Given the description of an element on the screen output the (x, y) to click on. 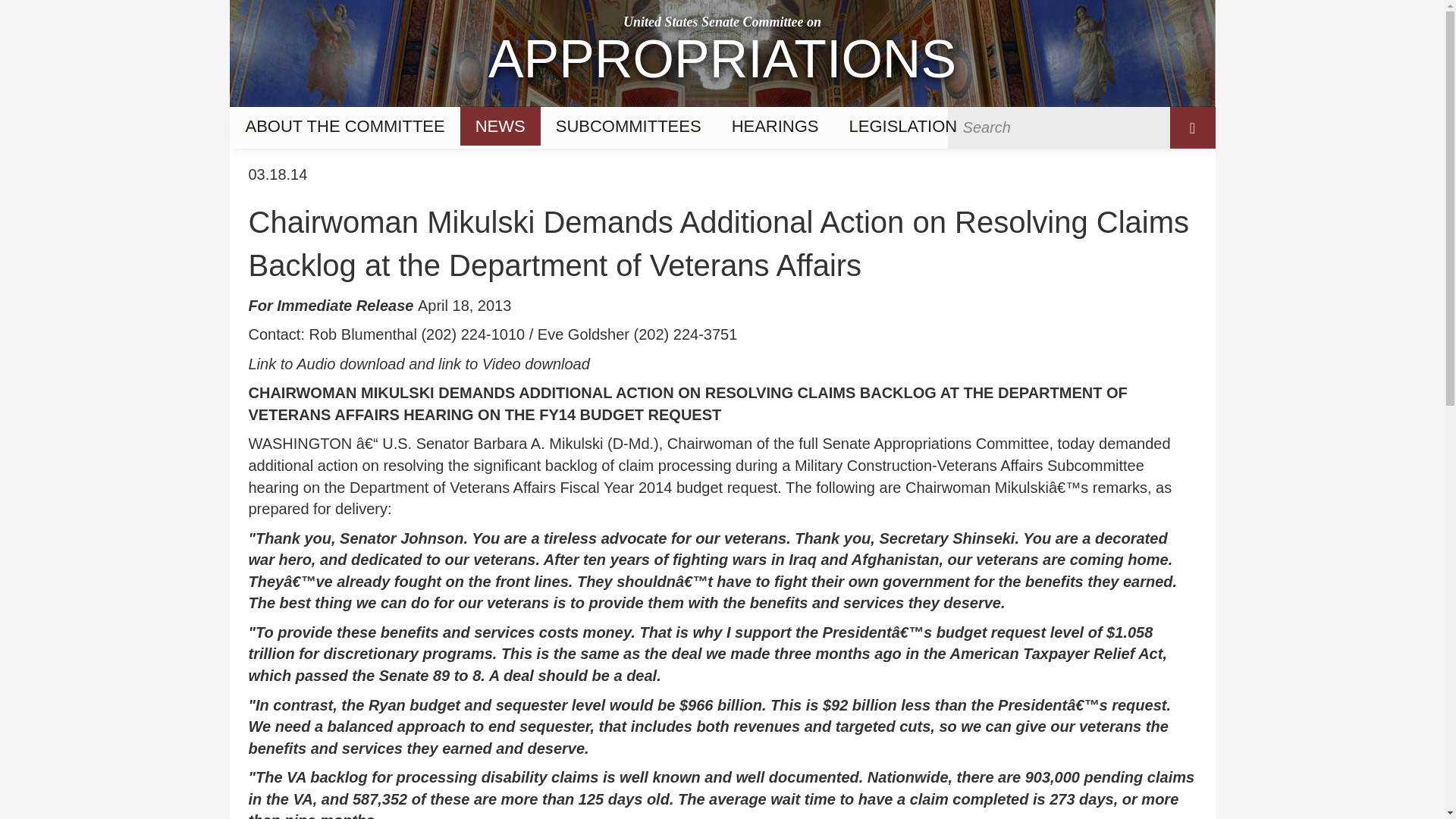
ABOUT THE COMMITTEE (345, 126)
NEWS (721, 53)
